Given the description of an element on the screen output the (x, y) to click on. 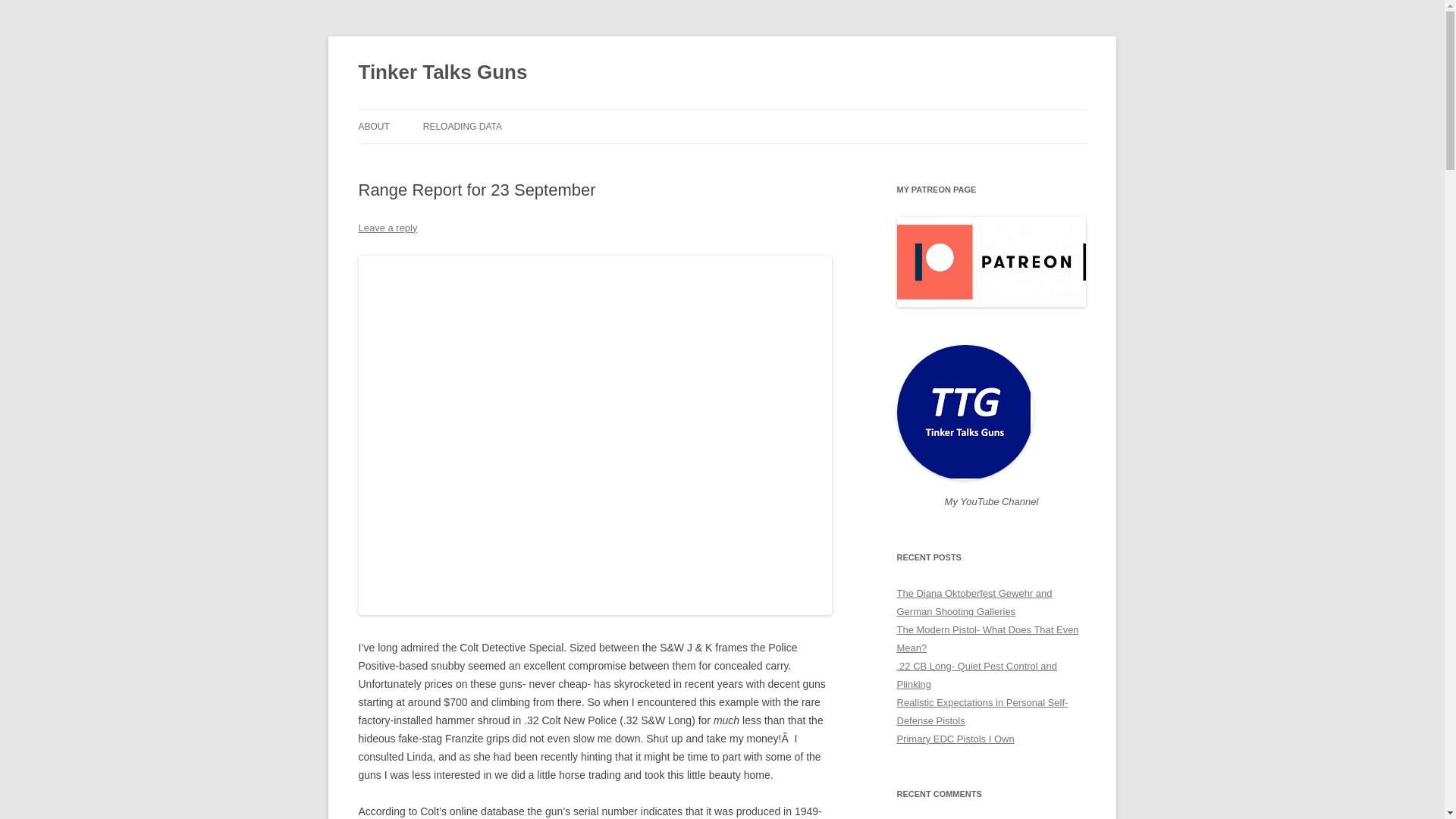
The Modern Pistol- What Does That Even Mean? (987, 638)
RELOADING DATA (462, 126)
The Diana Oktoberfest Gewehr and German Shooting Galleries (973, 602)
ABOUT (373, 126)
Leave a reply (387, 227)
Tinker Talks Guns (442, 72)
.22 CB Long- Quiet Pest Control and Plinking (976, 675)
Realistic Expectations in Personal Self-Defense Pistols (981, 711)
Tinker Talks Guns (442, 72)
Primary EDC Pistols I Own (954, 738)
